Given the description of an element on the screen output the (x, y) to click on. 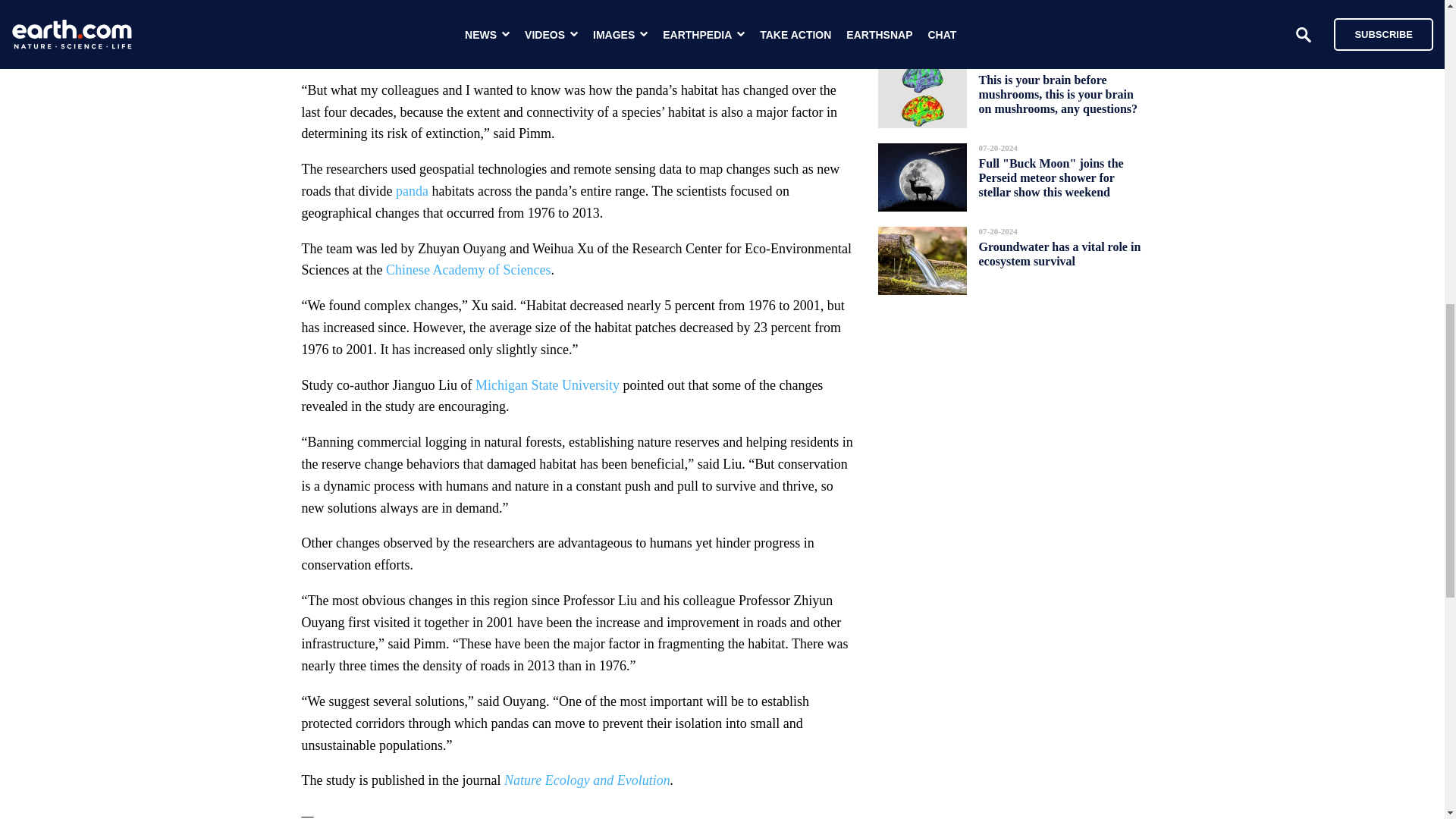
Dust is an understudied contributor to climate change (1054, 12)
Chinese Academy of Sciences (467, 269)
Duke University (360, 32)
Michigan State University (548, 385)
Nature Ecology and Evolution (586, 780)
panda (412, 191)
